Given the description of an element on the screen output the (x, y) to click on. 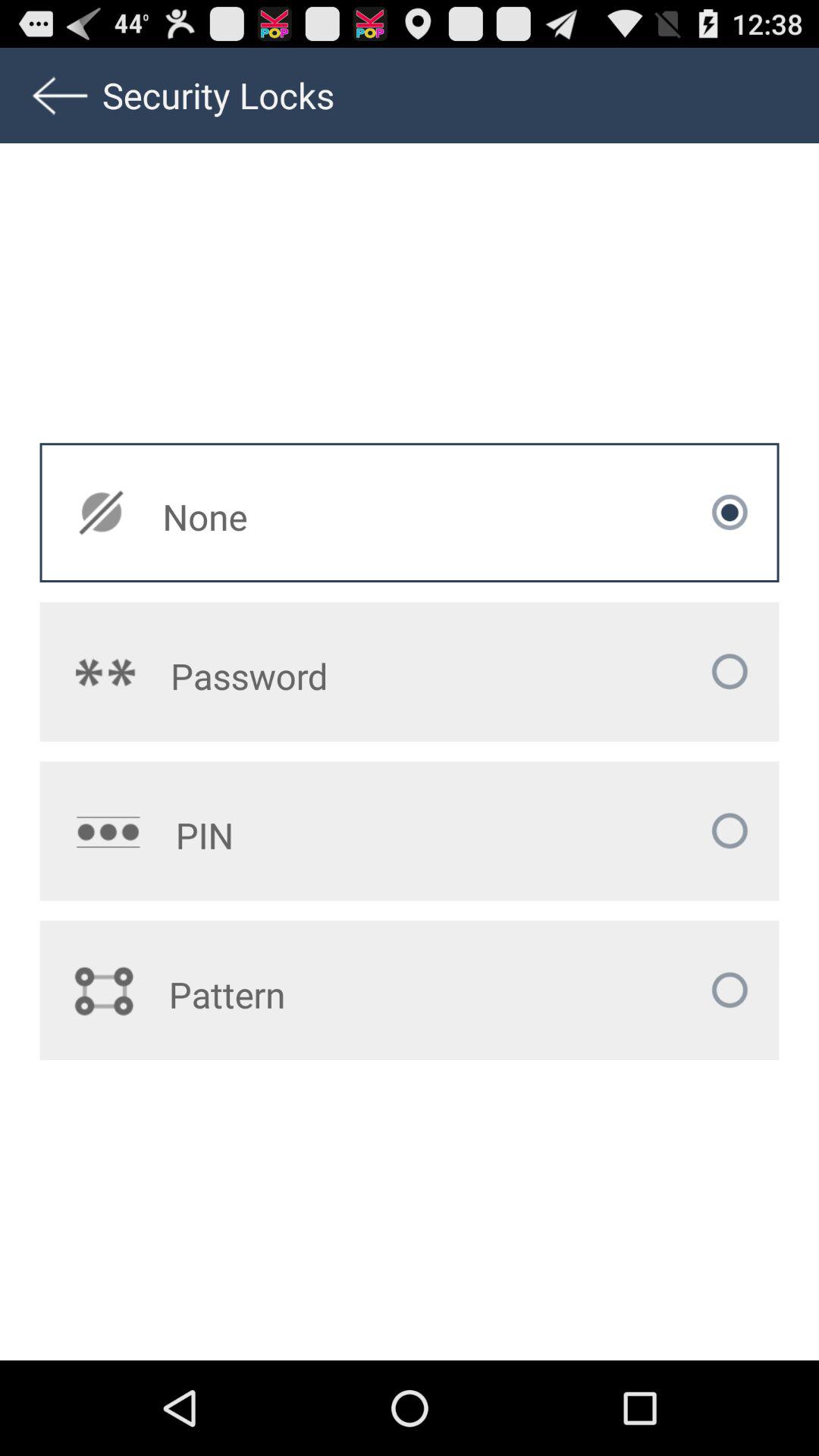
scroll to the pin item (324, 835)
